Given the description of an element on the screen output the (x, y) to click on. 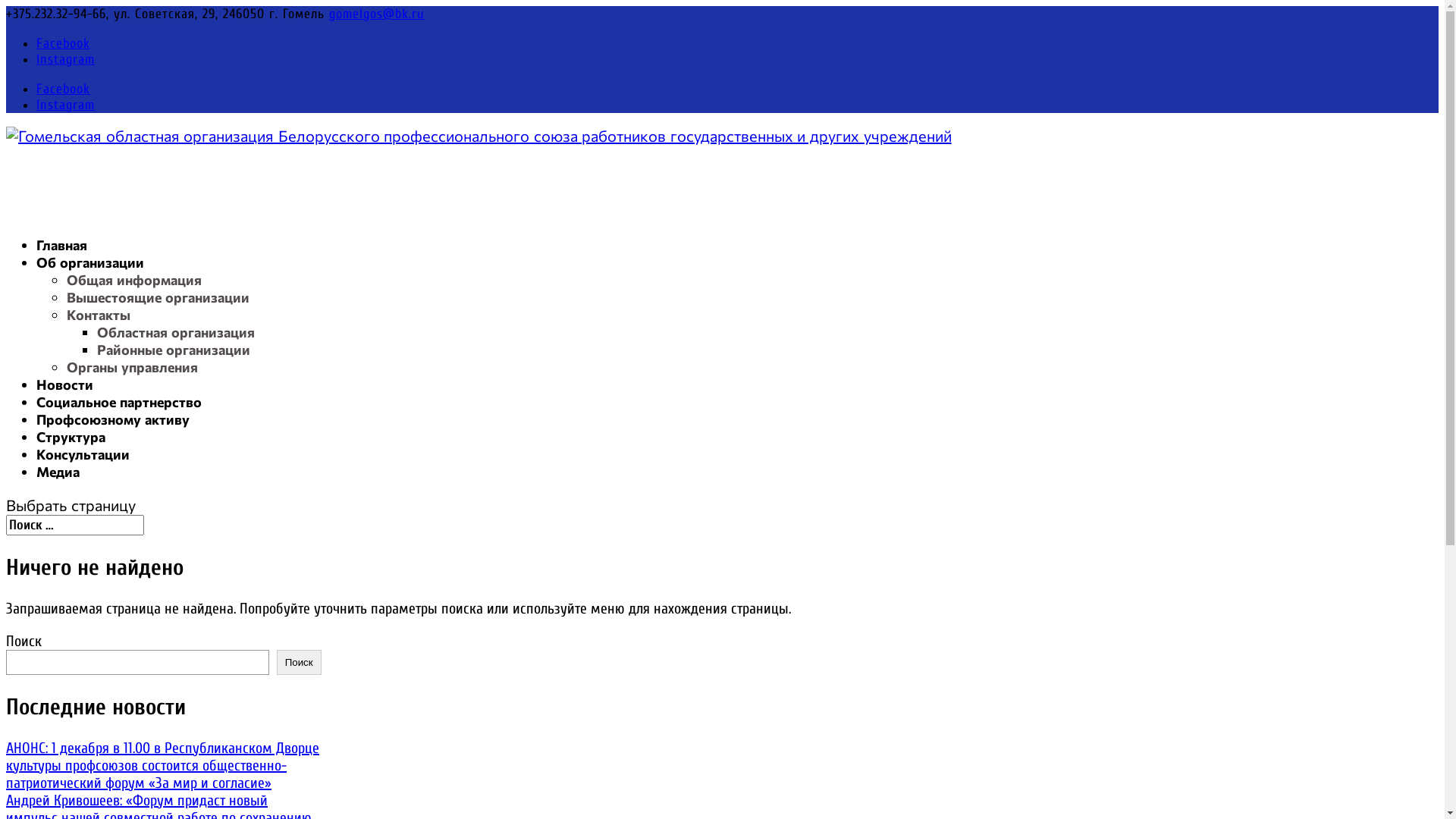
Instagram Element type: text (65, 59)
Facebook Element type: text (63, 89)
Facebook Element type: text (63, 43)
gomelgos@bk.ru Element type: text (376, 13)
Instagram Element type: text (65, 104)
